Given the description of an element on the screen output the (x, y) to click on. 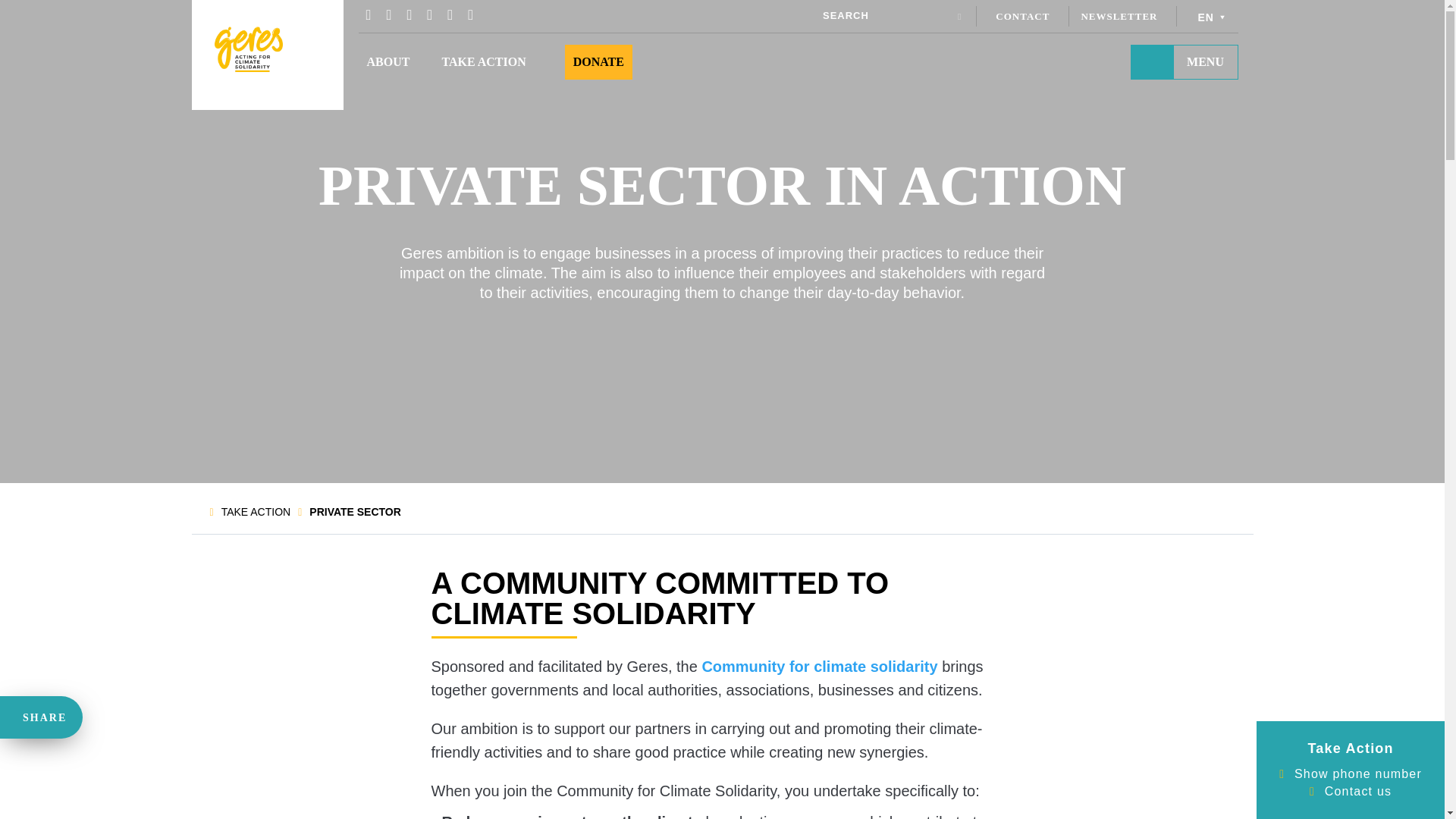
SHARE (39, 716)
CONTACT (1022, 16)
TAKE ACTION (483, 60)
Show phone number (1358, 773)
Contact us (1357, 791)
Go to Geres. (196, 511)
DONATE (598, 60)
NEWSLETTER (1118, 16)
Search for: (886, 15)
ABOUT (388, 60)
EN (1212, 15)
Go to Take action. (256, 511)
